Given the description of an element on the screen output the (x, y) to click on. 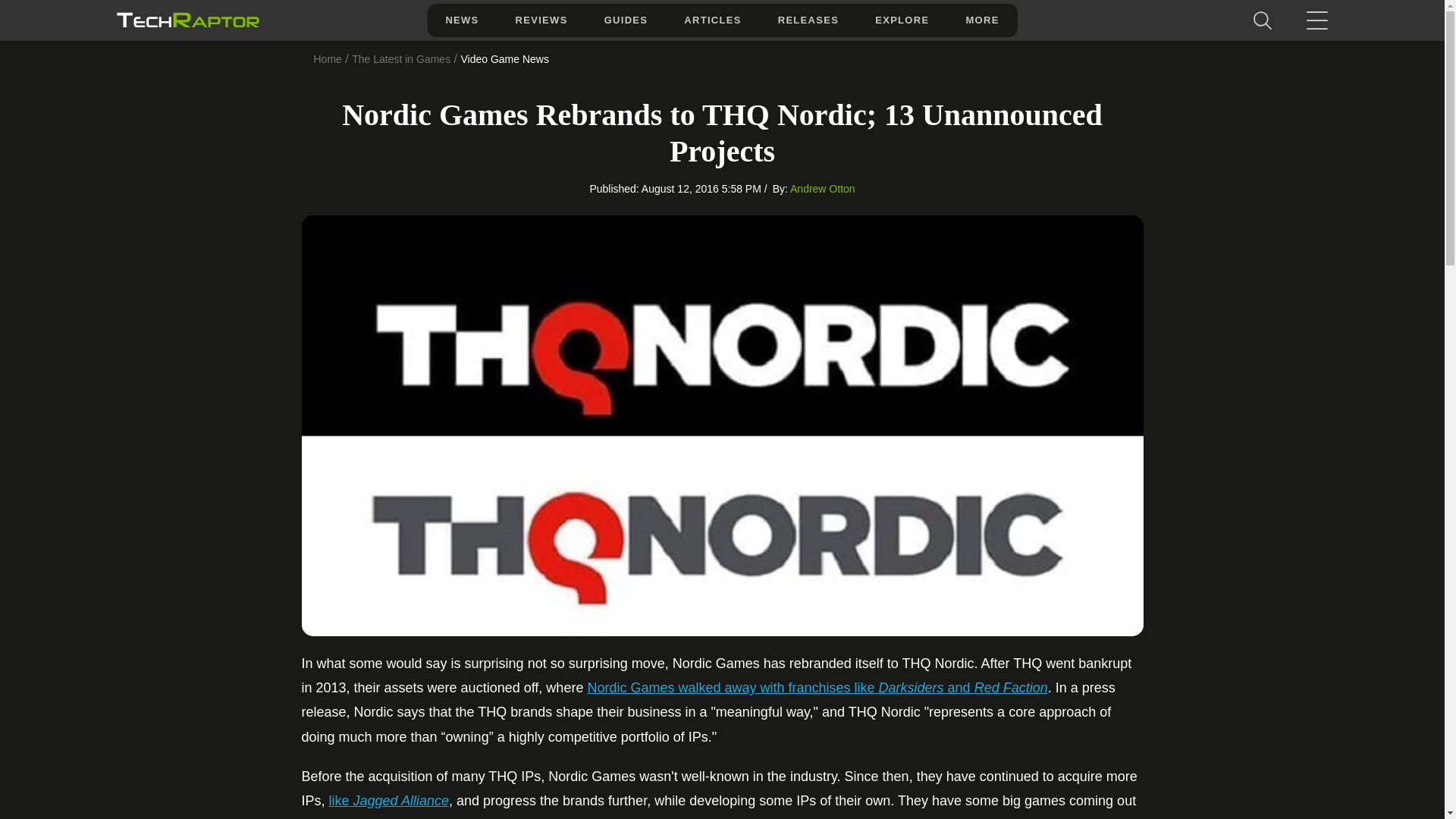
GUIDES (626, 20)
NEWS (461, 20)
ARTICLES (711, 20)
RELEASES (807, 20)
TechRaptor Home (187, 20)
REVIEWS (541, 20)
